Given the description of an element on the screen output the (x, y) to click on. 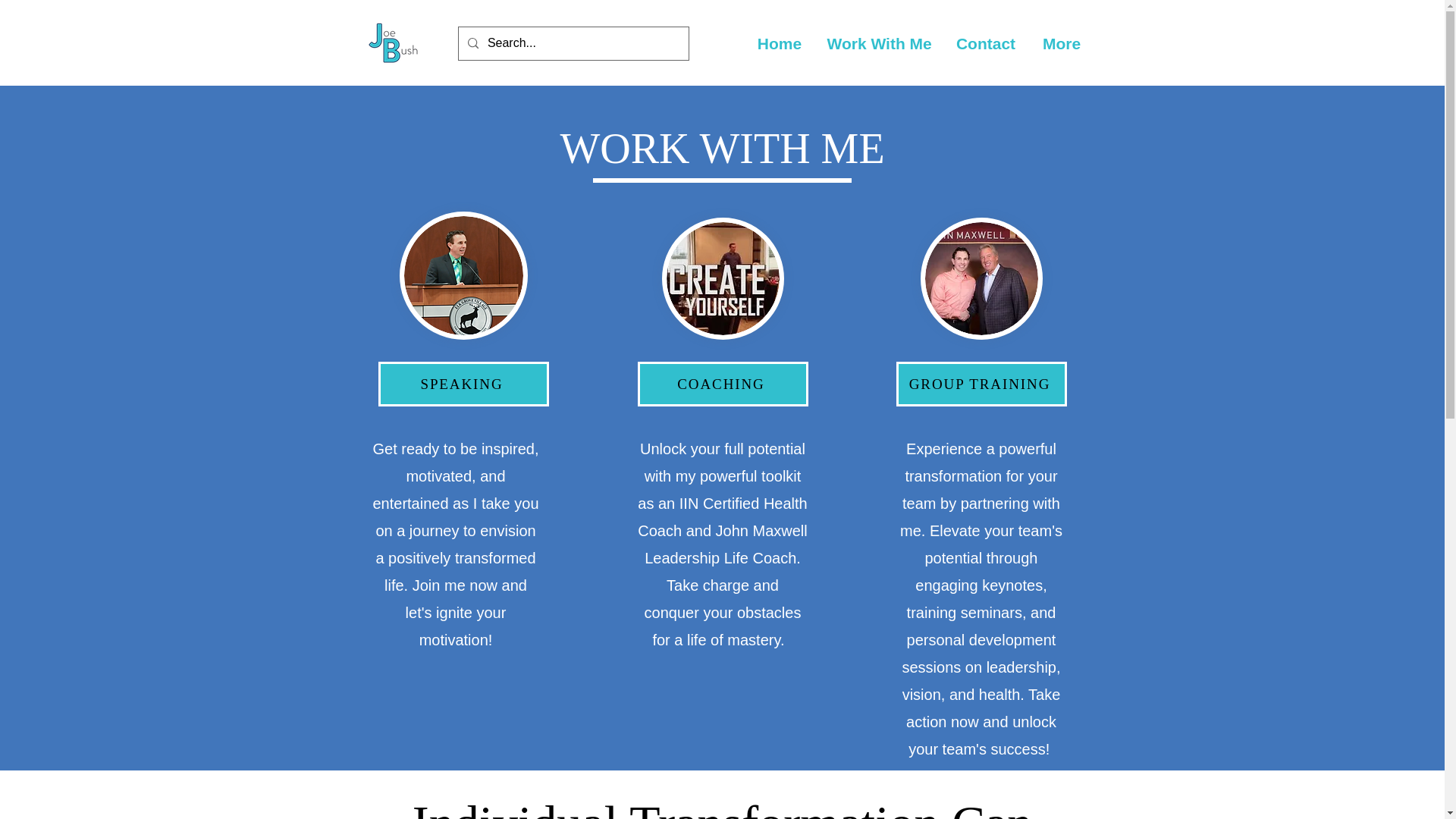
Contact (985, 44)
Home (778, 44)
Work With Me (878, 44)
GROUP TRAINING (981, 383)
COACHING (722, 383)
SPEAKING (462, 383)
Logos for Bush .png (393, 43)
